Given the description of an element on the screen output the (x, y) to click on. 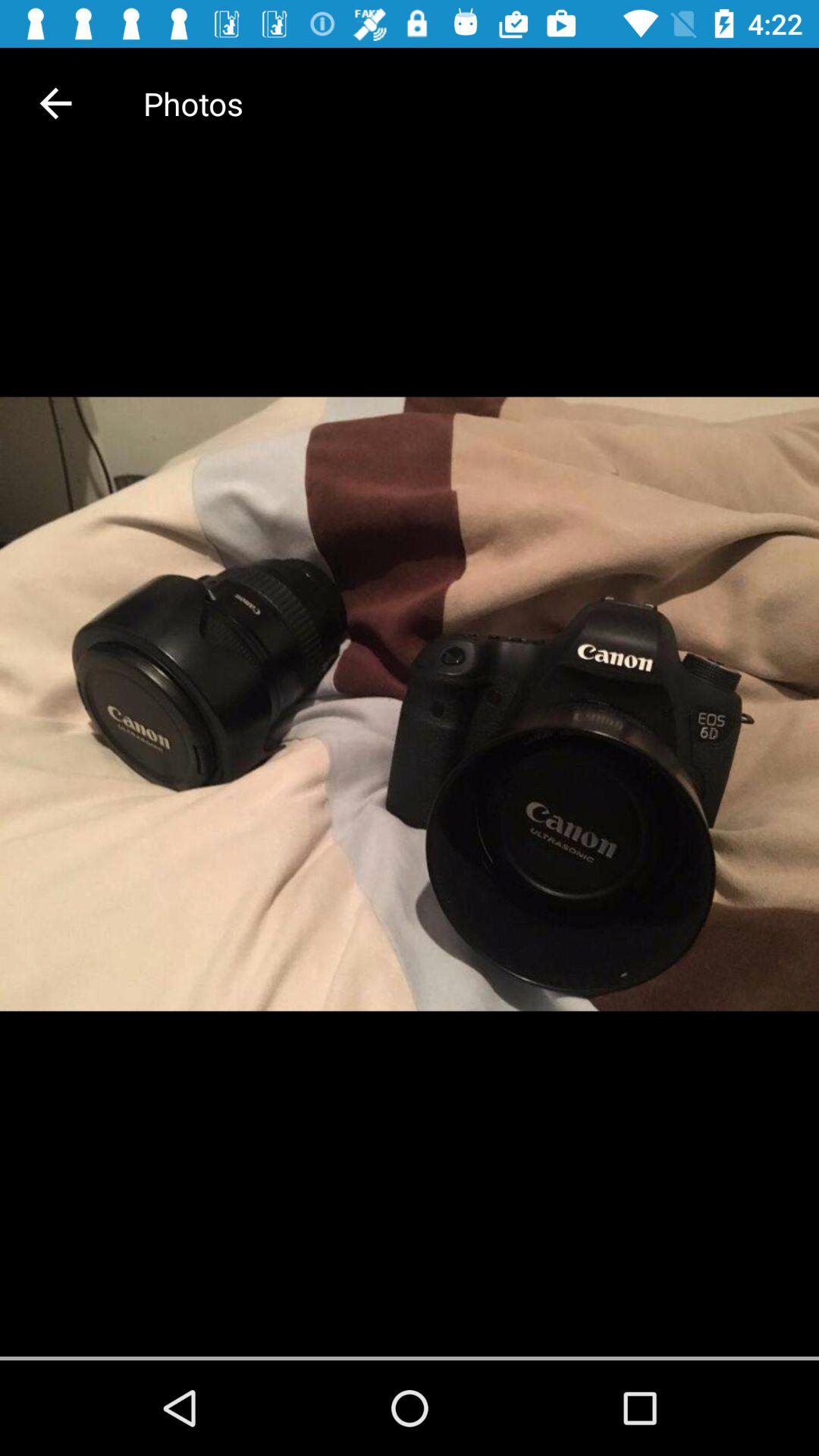
click app to the left of photos item (55, 103)
